Given the description of an element on the screen output the (x, y) to click on. 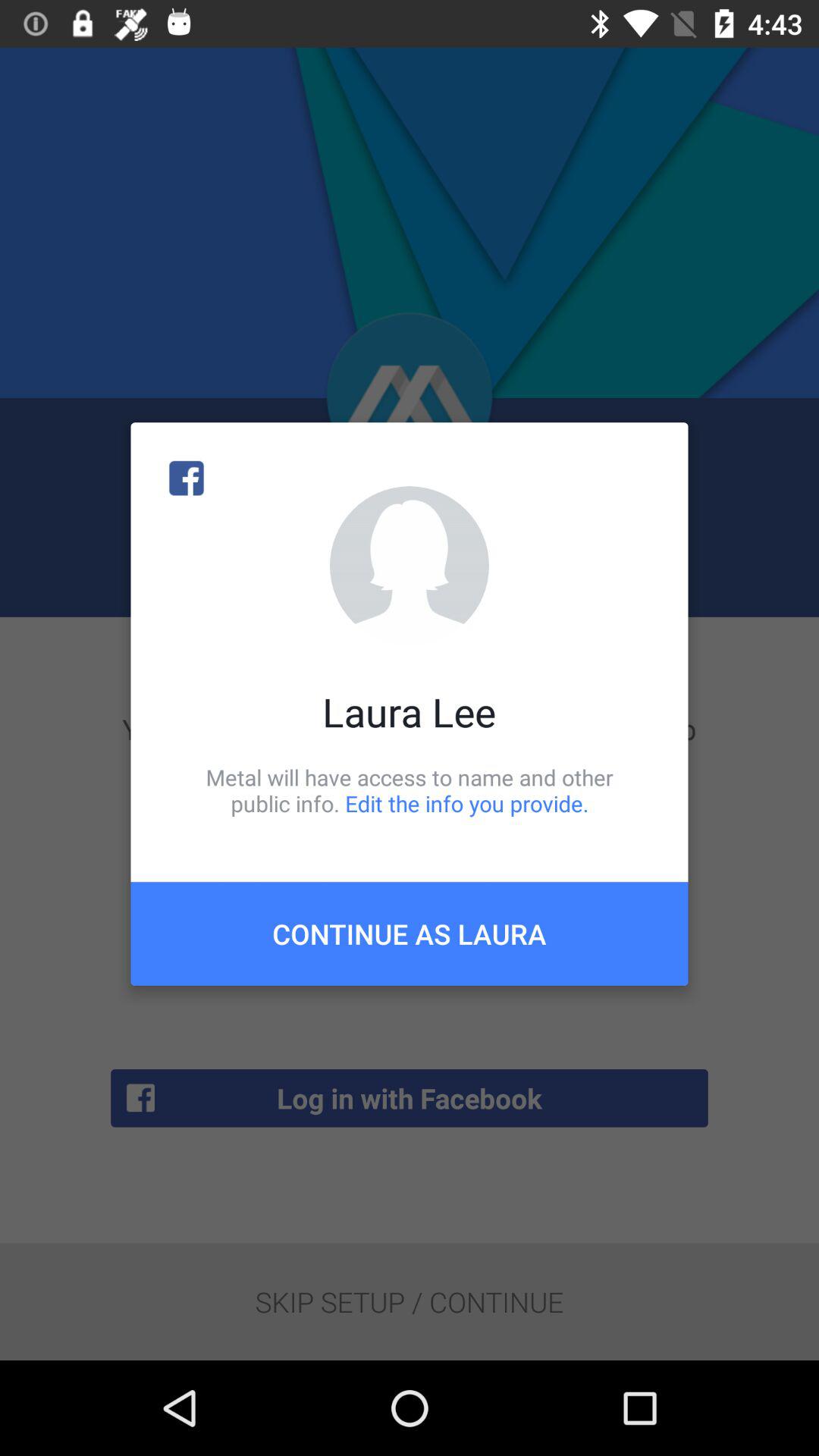
turn on the icon below laura lee (409, 790)
